Given the description of an element on the screen output the (x, y) to click on. 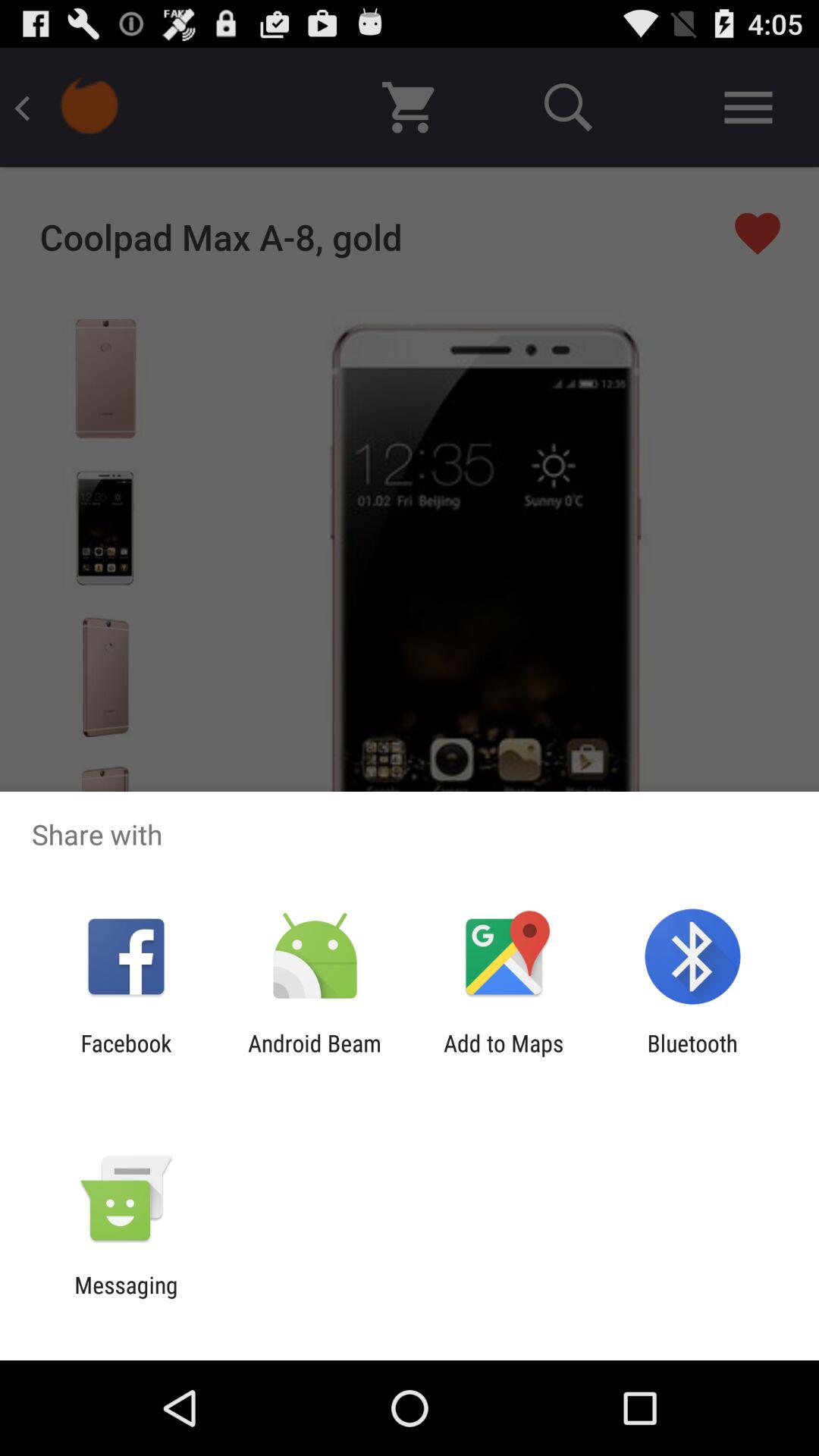
open icon to the right of the add to maps item (692, 1056)
